Given the description of an element on the screen output the (x, y) to click on. 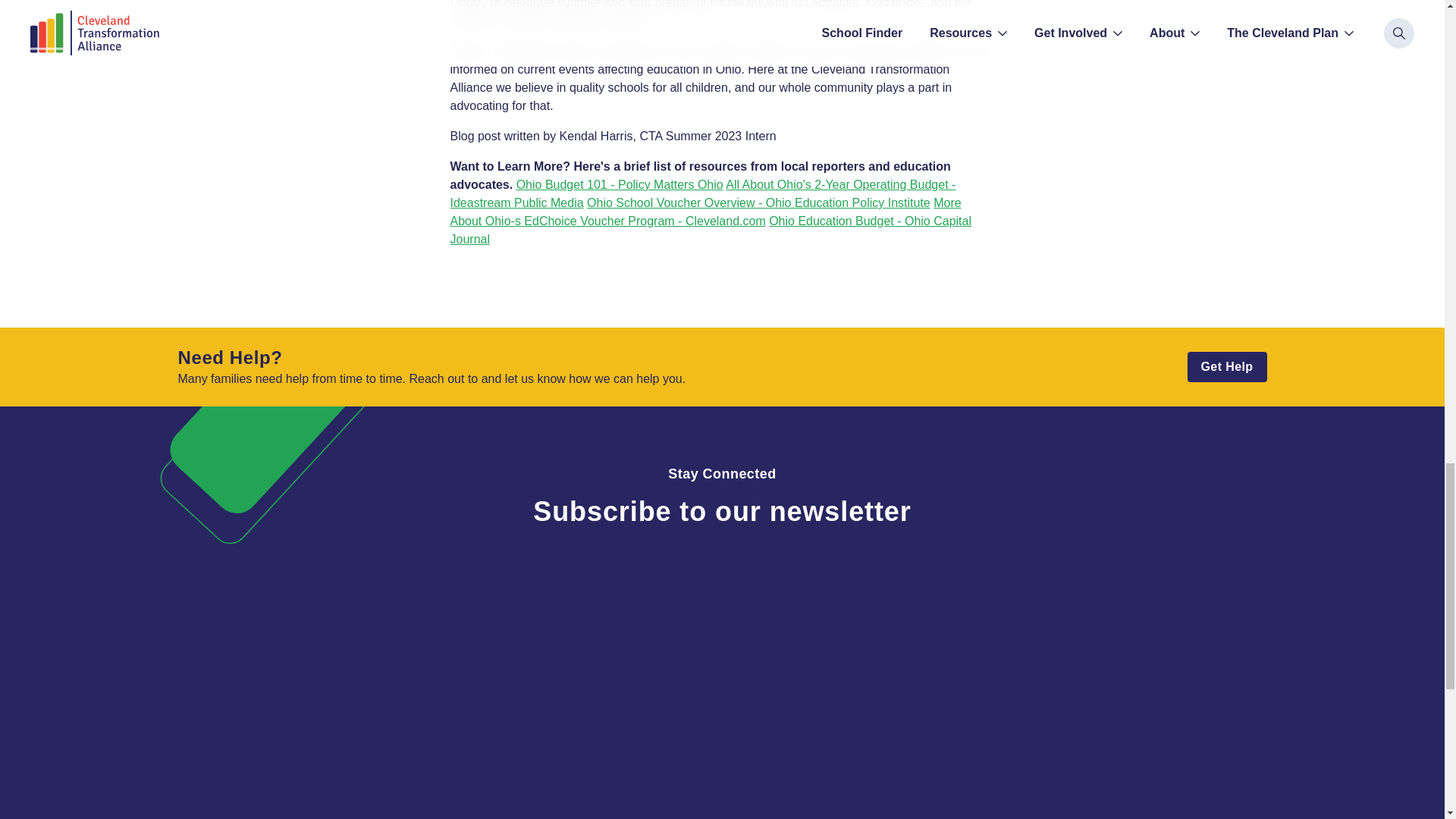
Ohio Education Budget - Ohio Capital Journal (710, 229)
Get Help (1227, 367)
Ohio Budget 101 - Policy Matters Ohio (619, 184)
More About Ohio-s EdChoice Voucher Program - Cleveland.com (704, 211)
